Given the description of an element on the screen output the (x, y) to click on. 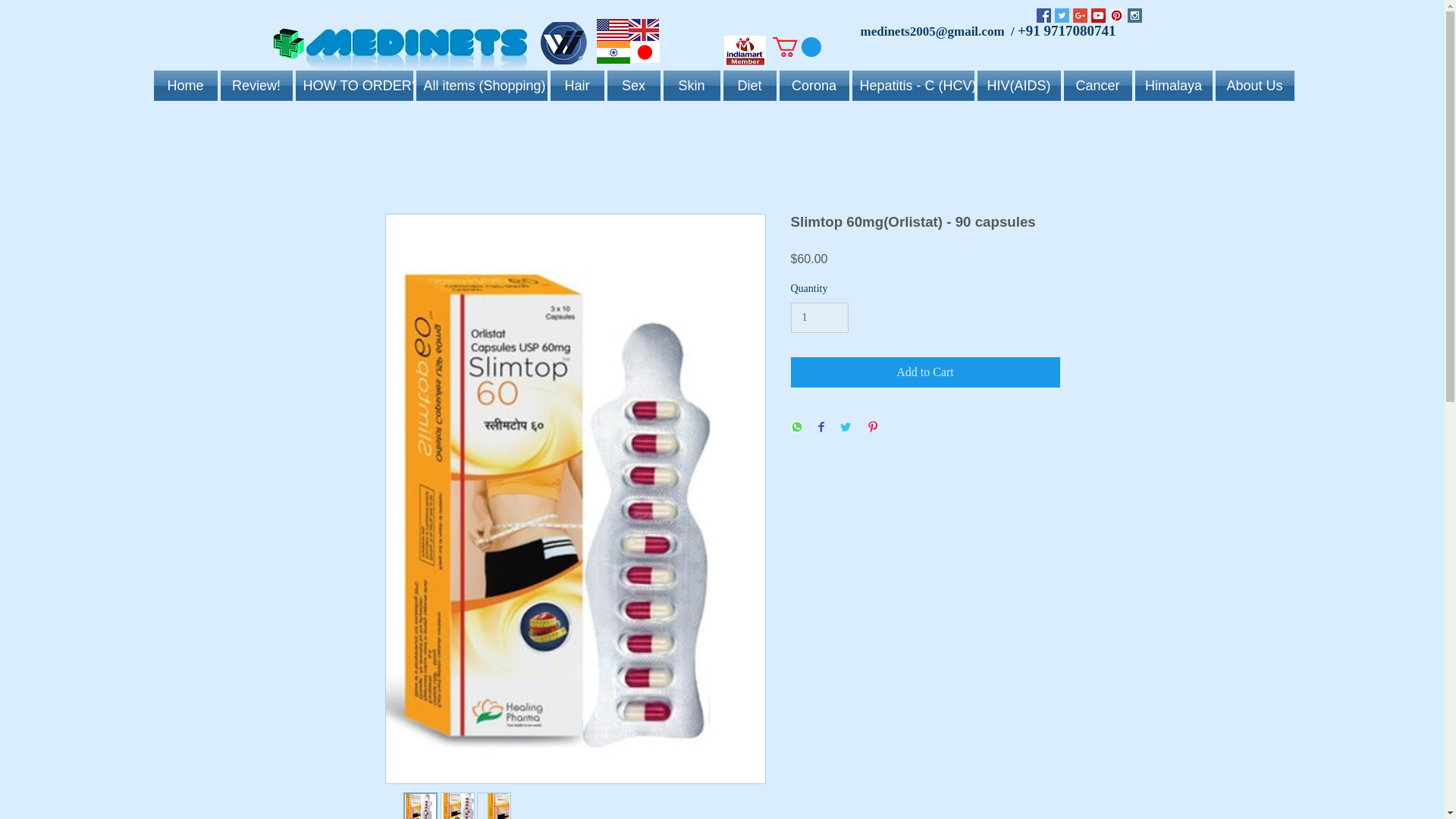
1 (818, 317)
Sex (633, 85)
Medinets-logo.jpg (417, 45)
Diet (749, 85)
Skin (690, 85)
Home (185, 85)
Hair (576, 85)
Himalaya (1172, 85)
INDIAMART2.jpg (744, 51)
medinets-video logo finish.jpg (561, 43)
